Given the description of an element on the screen output the (x, y) to click on. 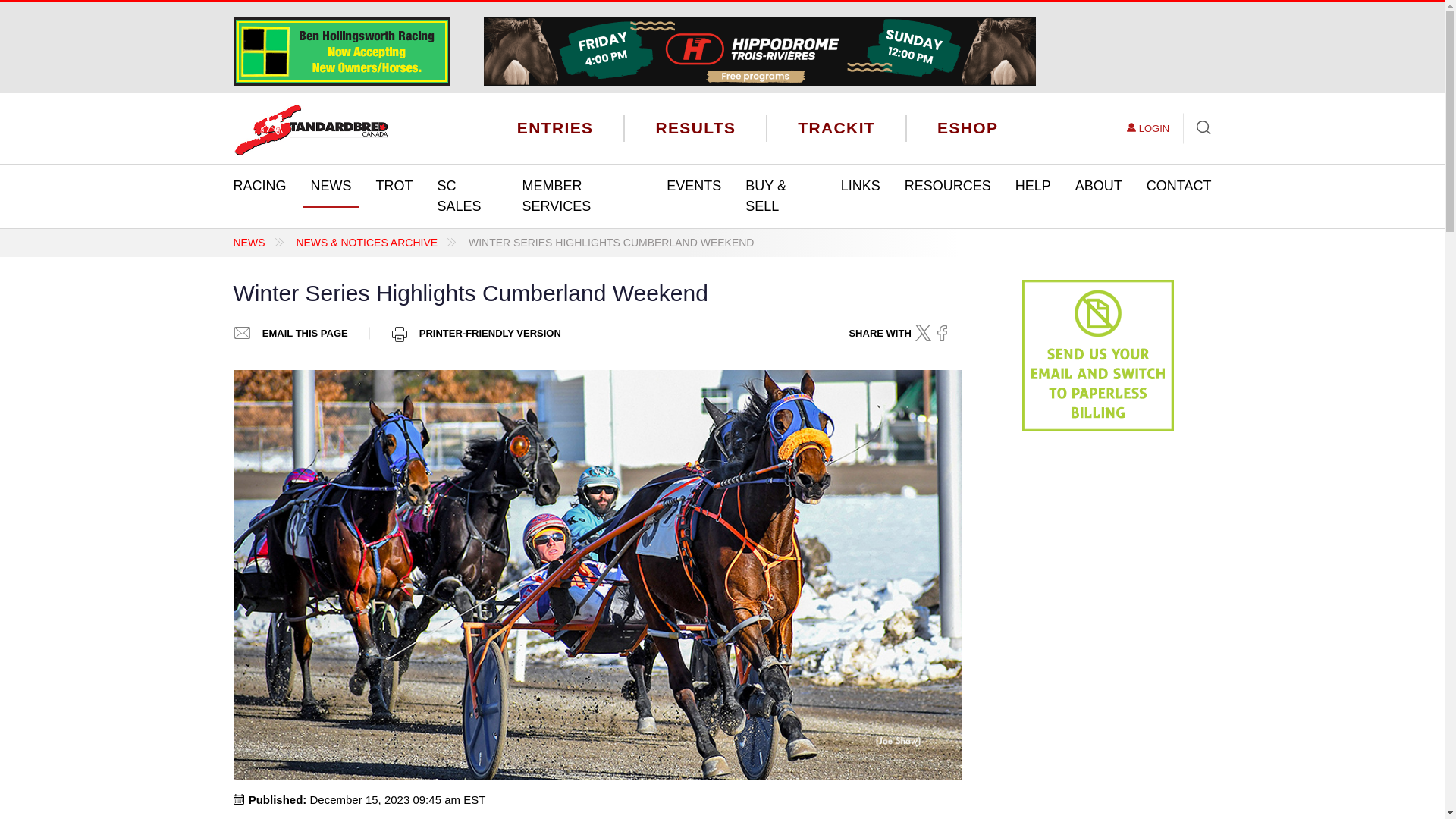
Search (1197, 128)
NEWS (330, 186)
RACING (259, 186)
ESHOP (967, 127)
LOGIN (1147, 128)
TROT (394, 186)
SC SALES (467, 196)
RESULTS (695, 127)
ENTRIES (555, 127)
TRACKIT (836, 127)
